Given the description of an element on the screen output the (x, y) to click on. 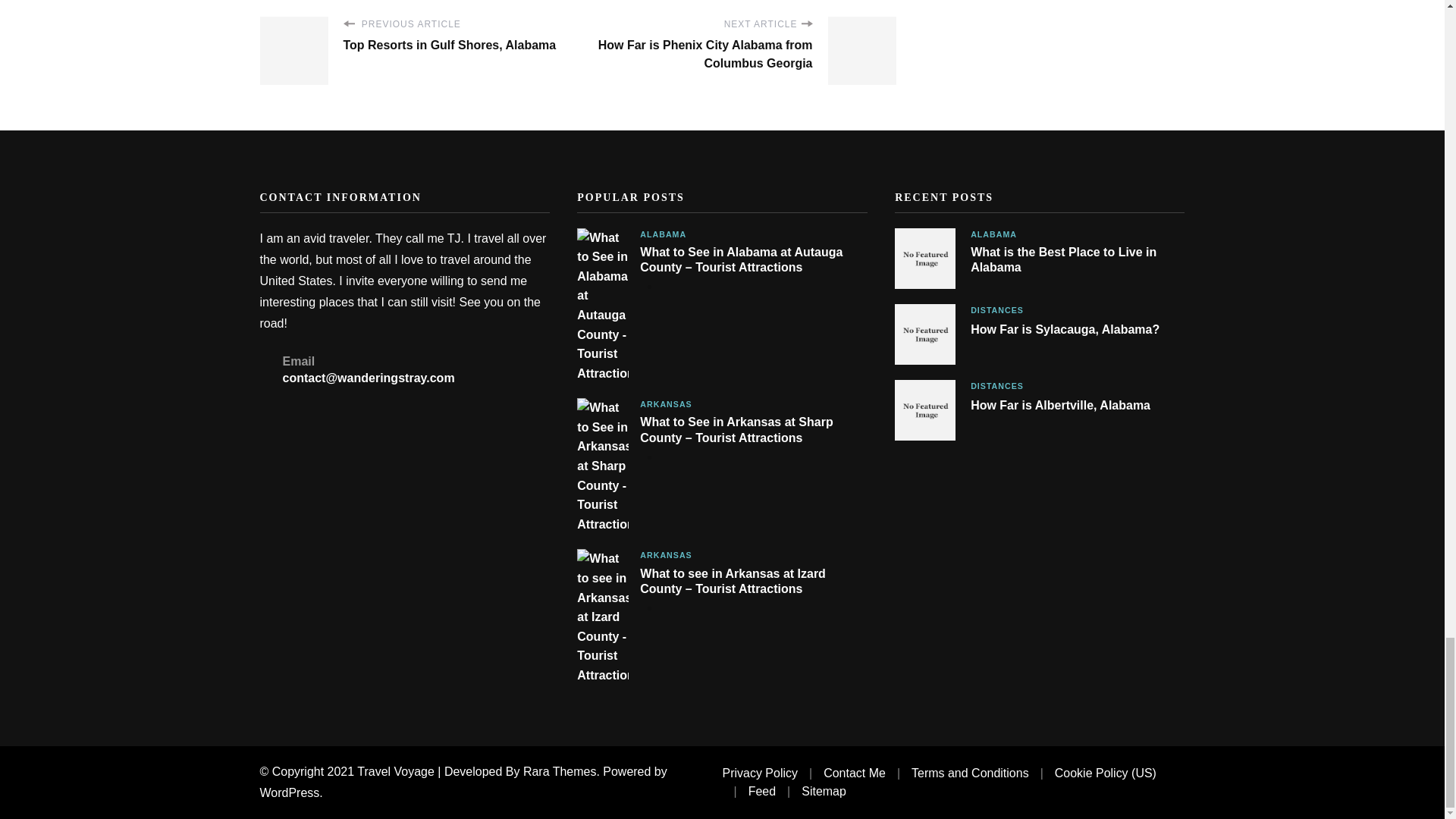
ALABAMA (662, 234)
